Given the description of an element on the screen output the (x, y) to click on. 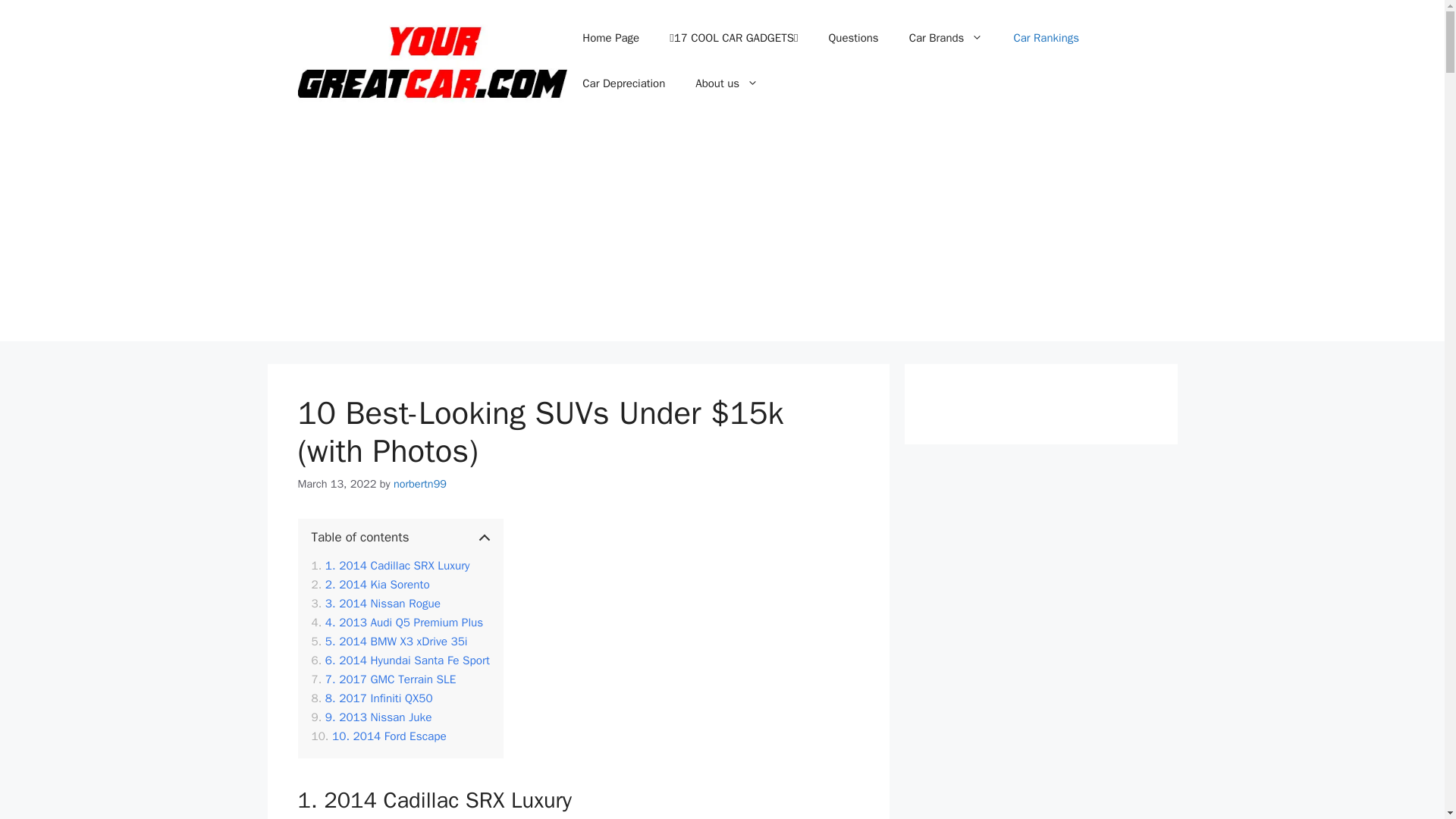
8. 2017 Infiniti QX50  (373, 698)
3. 2014 Nissan Rogue (376, 603)
1. 2014 Cadillac SRX Luxury (389, 565)
1. 2014 Cadillac SRX Luxury (389, 565)
4. 2013 Audi Q5 Premium Plus (397, 622)
5. 2014 BMW X3 xDrive 35i (389, 641)
Car Depreciation (623, 83)
norbertn99 (419, 483)
9. 2013 Nissan Juke (370, 717)
